Given the description of an element on the screen output the (x, y) to click on. 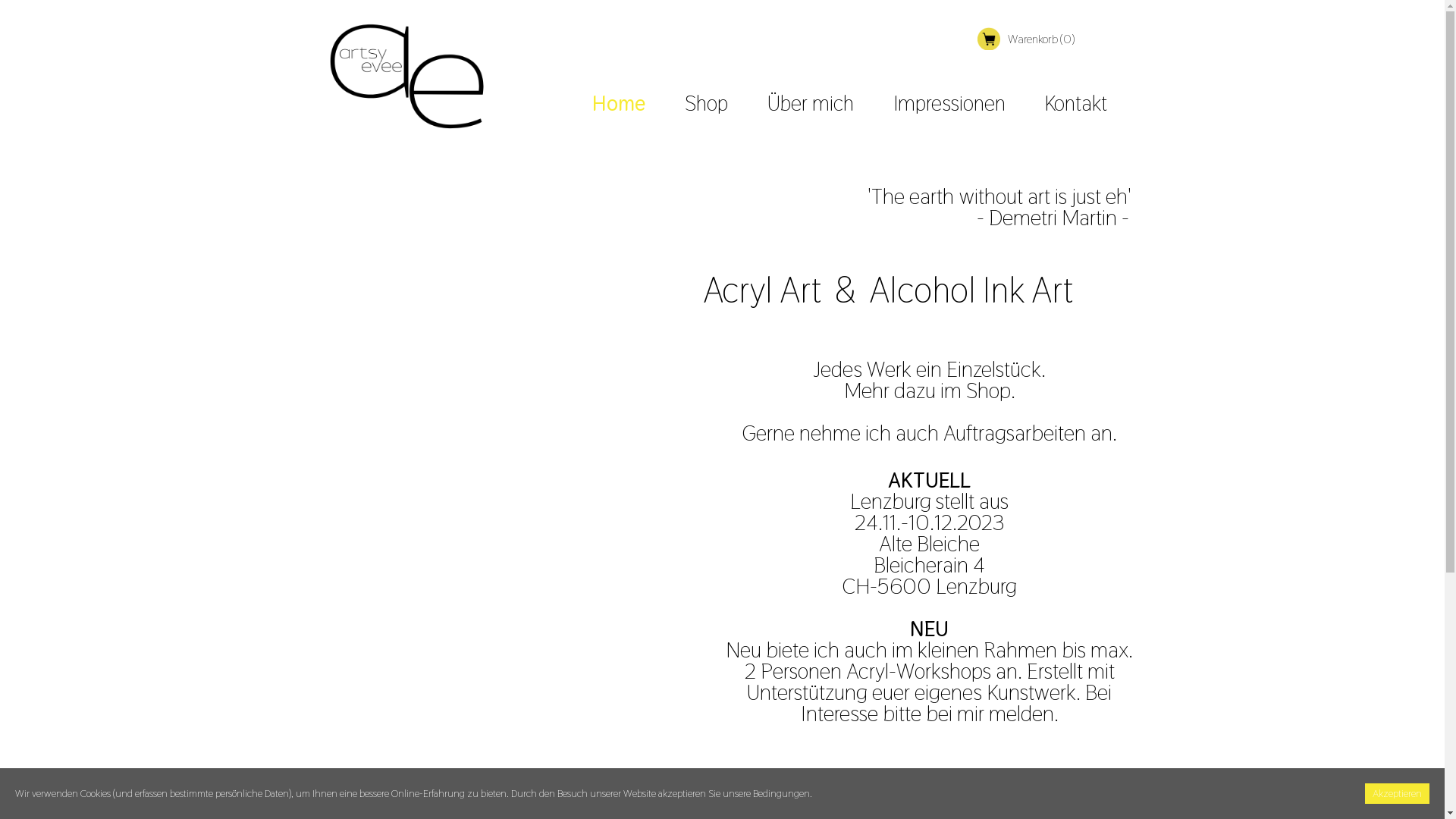
Akzeptieren Element type: text (1397, 793)
Home Element type: text (618, 103)
Kontakt Element type: text (1075, 103)
Impressionen Element type: text (949, 103)
Warenkorb Element type: hover (988, 38)
Shop Element type: text (706, 103)
